Given the description of an element on the screen output the (x, y) to click on. 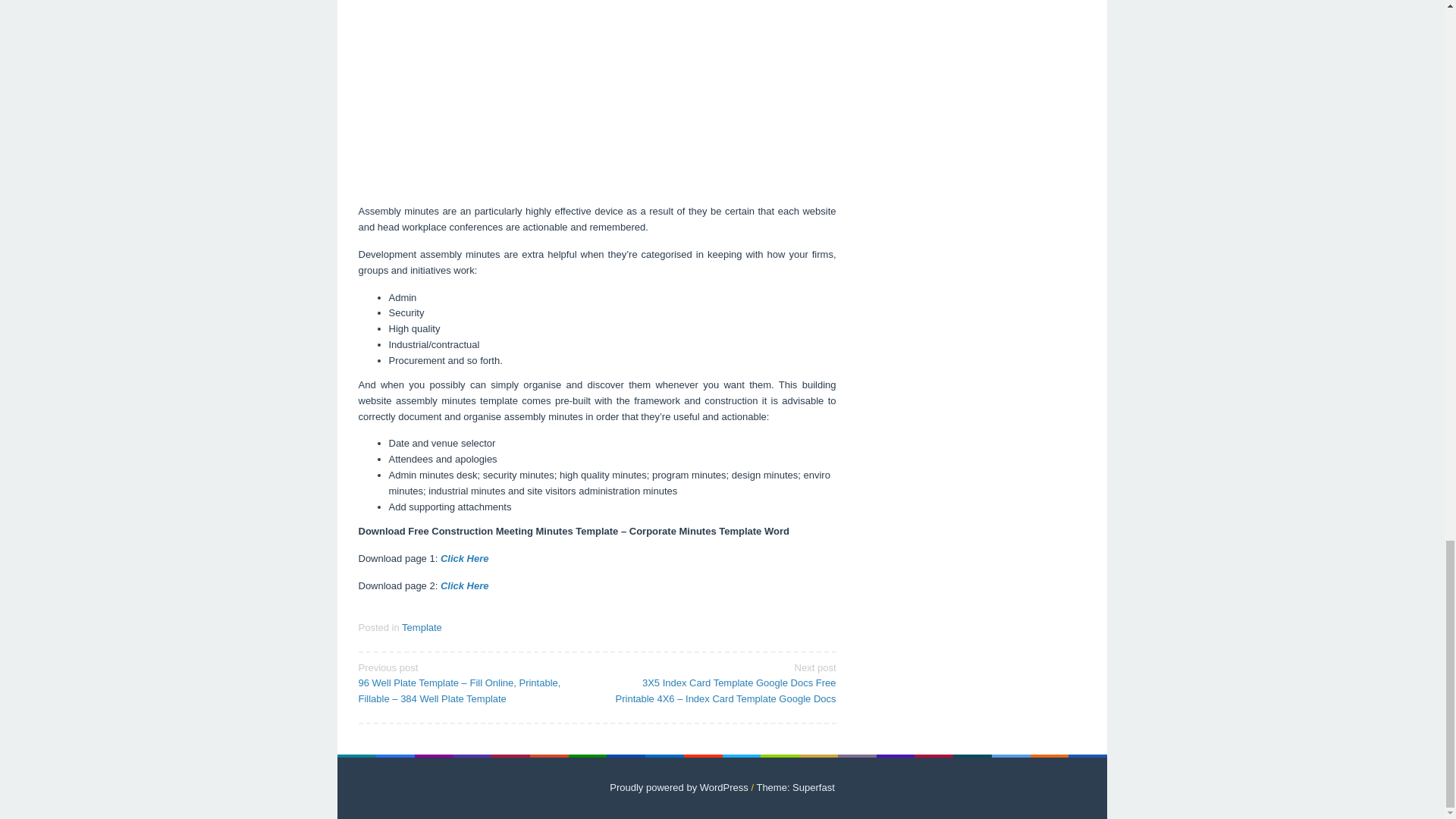
Template (421, 627)
Click Here (465, 558)
Proudly powered by WordPress (679, 787)
Proudly powered by WordPress (679, 787)
Click Here (465, 585)
Theme: Superfast (794, 787)
Theme: Superfast (794, 787)
